Given the description of an element on the screen output the (x, y) to click on. 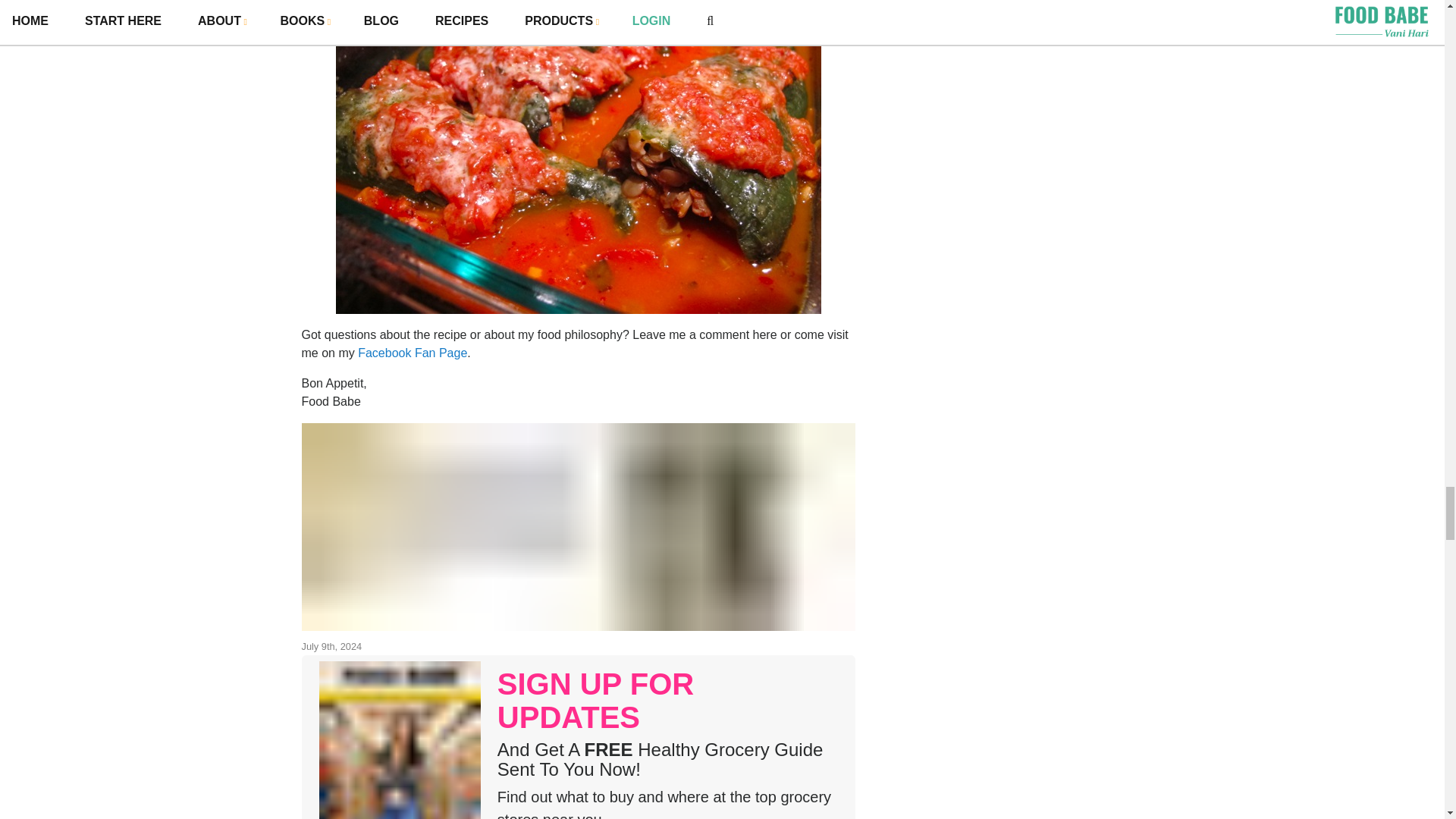
Facebook Fan Page (412, 352)
